Given the description of an element on the screen output the (x, y) to click on. 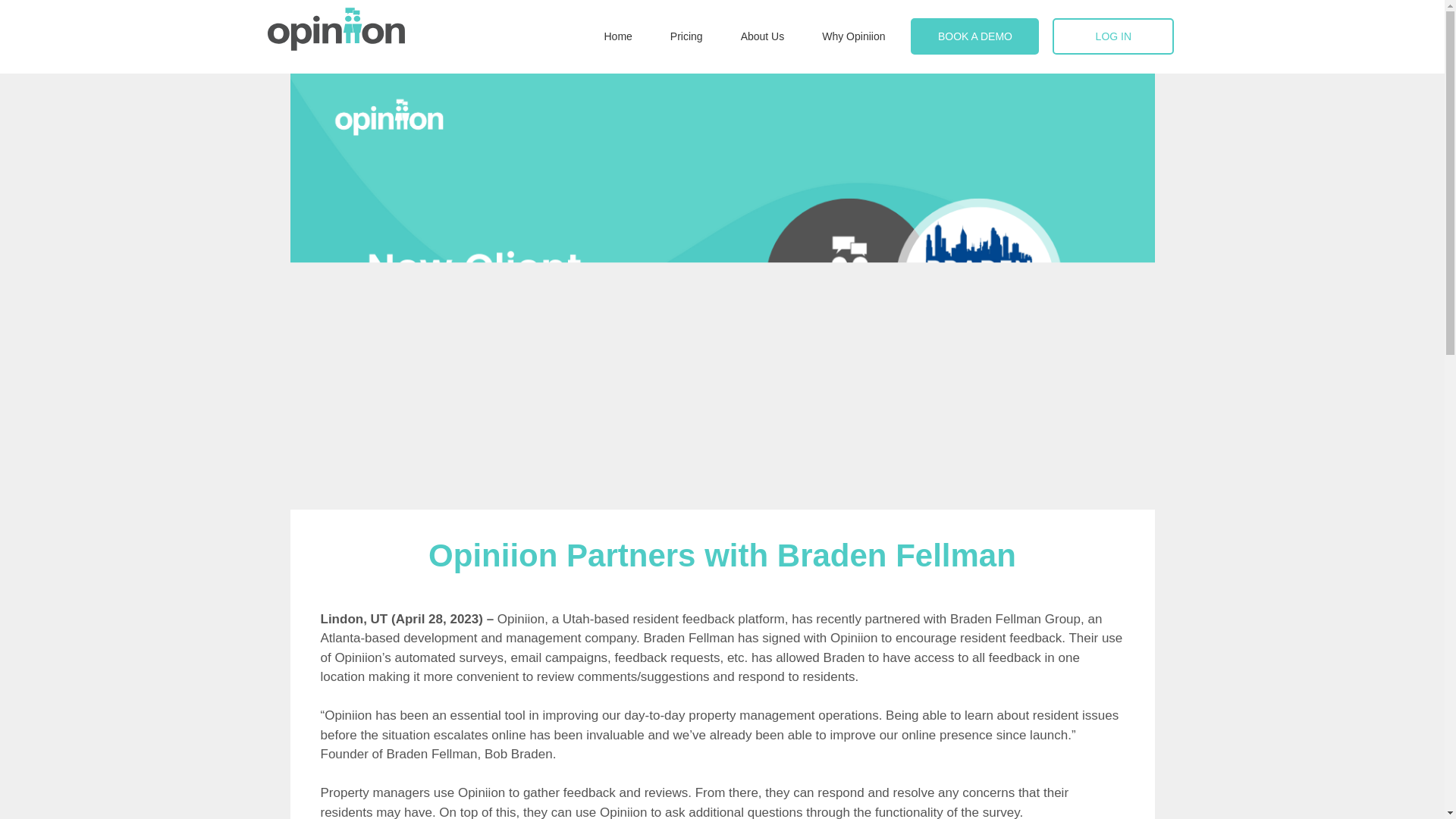
Home (617, 36)
Why Opiniion (853, 36)
Pricing (686, 36)
About Us (762, 36)
